Given the description of an element on the screen output the (x, y) to click on. 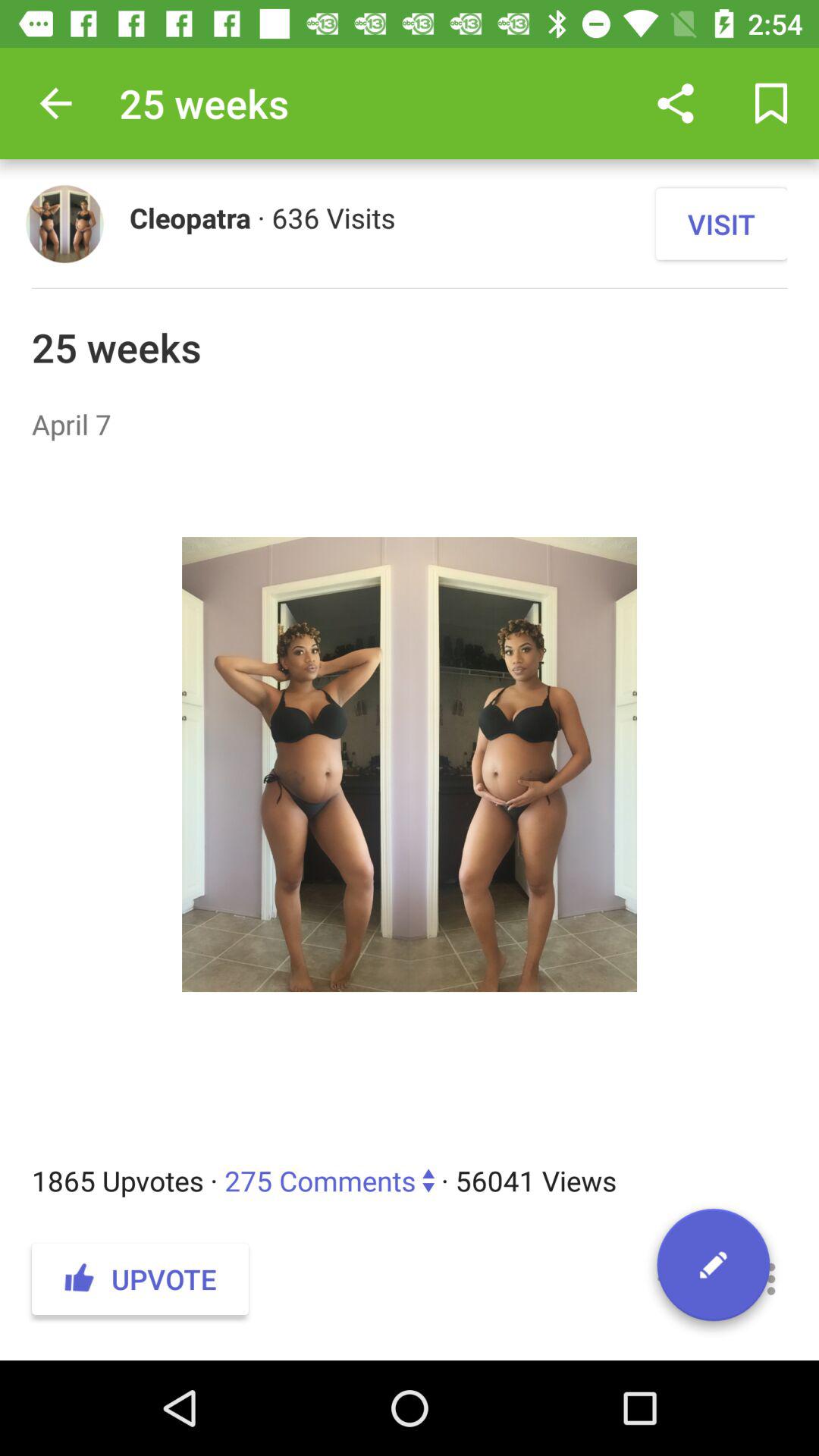
click icon to the right of the upvote item (675, 1278)
